Given the description of an element on the screen output the (x, y) to click on. 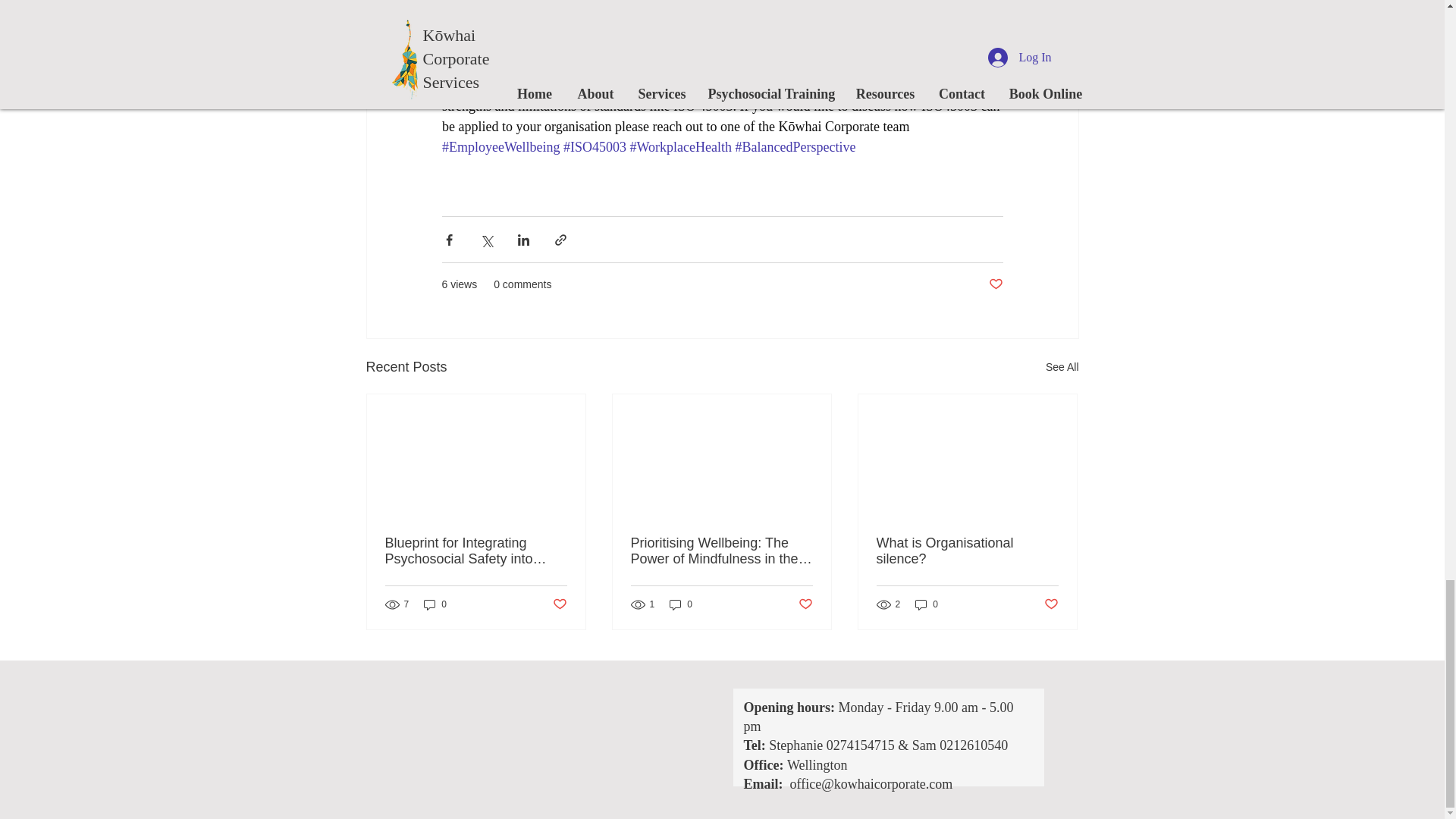
0 (926, 603)
See All (1061, 367)
What is Organisational silence? (967, 551)
0 (681, 603)
Post not marked as liked (558, 604)
0 (435, 603)
Post not marked as liked (804, 604)
Post not marked as liked (995, 284)
